Given the description of an element on the screen output the (x, y) to click on. 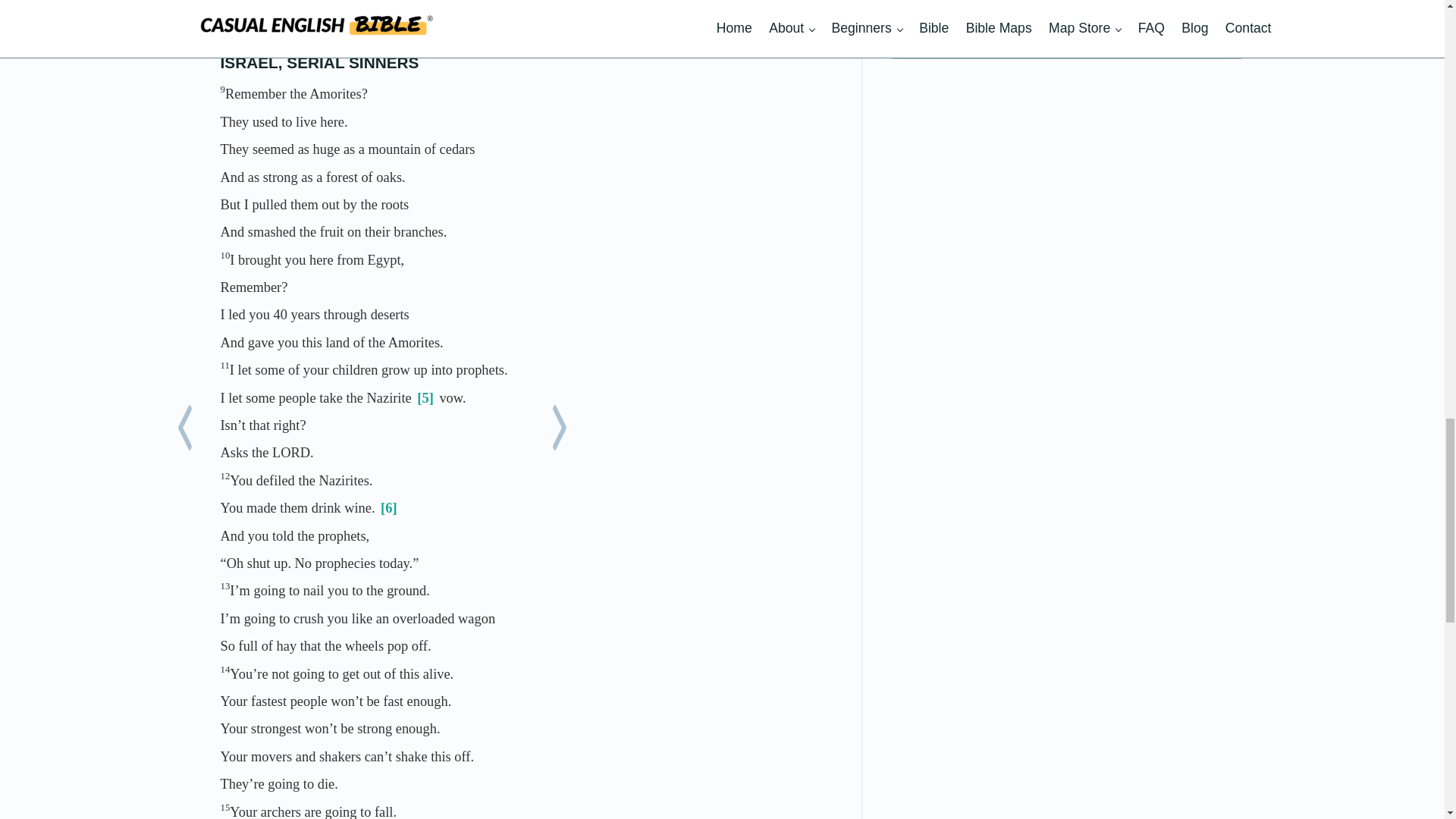
Map: Map Jerusalem City of David (1066, 2)
